Given the description of an element on the screen output the (x, y) to click on. 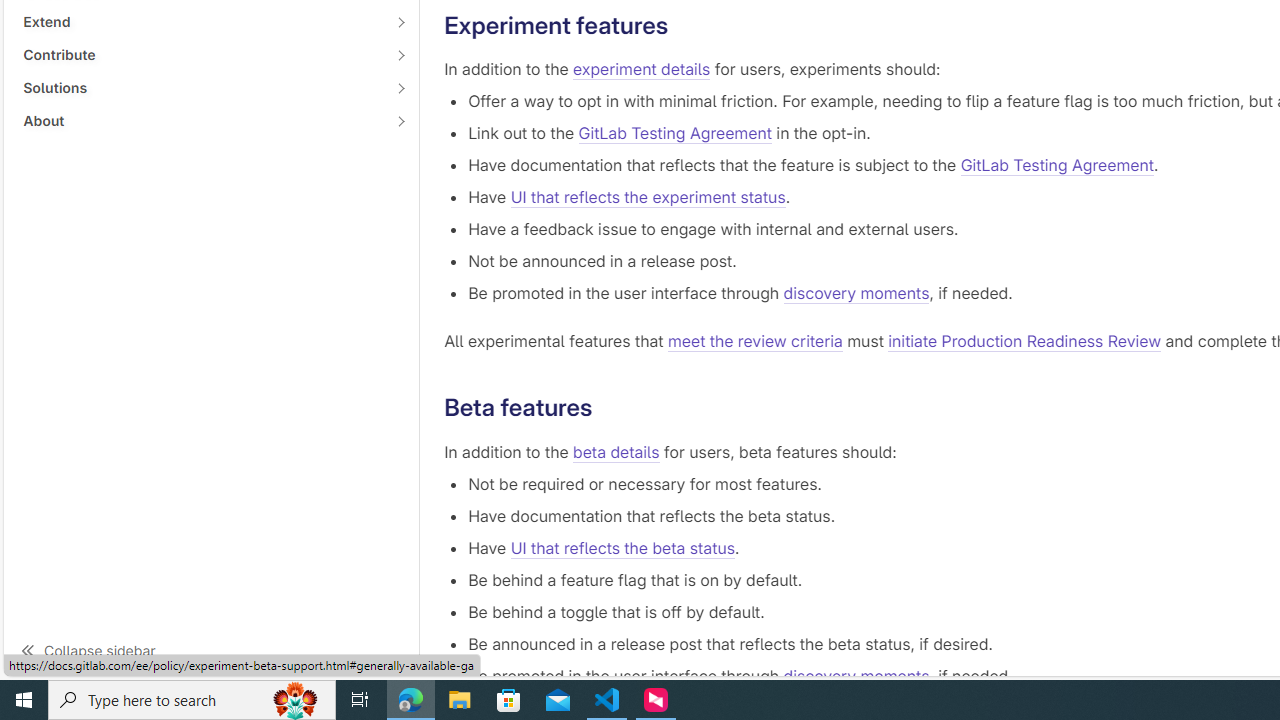
Extend (199, 21)
meet the review criteria (754, 341)
Permalink (608, 408)
UI that reflects the beta status (621, 547)
Solutions (199, 87)
GitLab Testing Agreement (1057, 165)
discovery moments (856, 675)
experiment details (641, 69)
beta details (616, 451)
Collapse sidebar (211, 650)
UI that reflects the experiment status (647, 197)
Contribute (199, 54)
initiate Production Readiness Review (1025, 341)
